Given the description of an element on the screen output the (x, y) to click on. 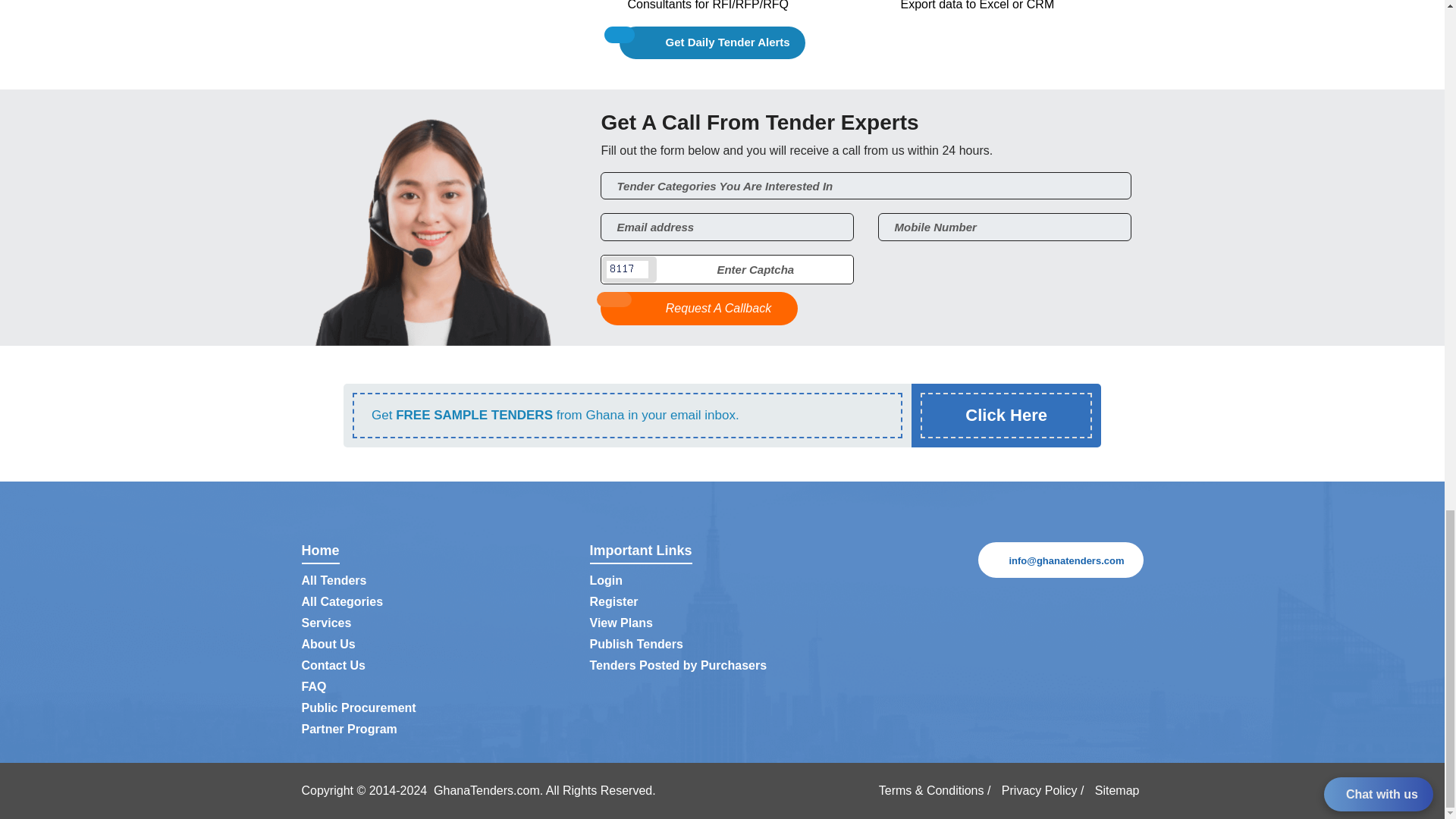
Click Here (1006, 415)
Request A Callback (698, 308)
Get Daily Tender Alerts (712, 42)
